Given the description of an element on the screen output the (x, y) to click on. 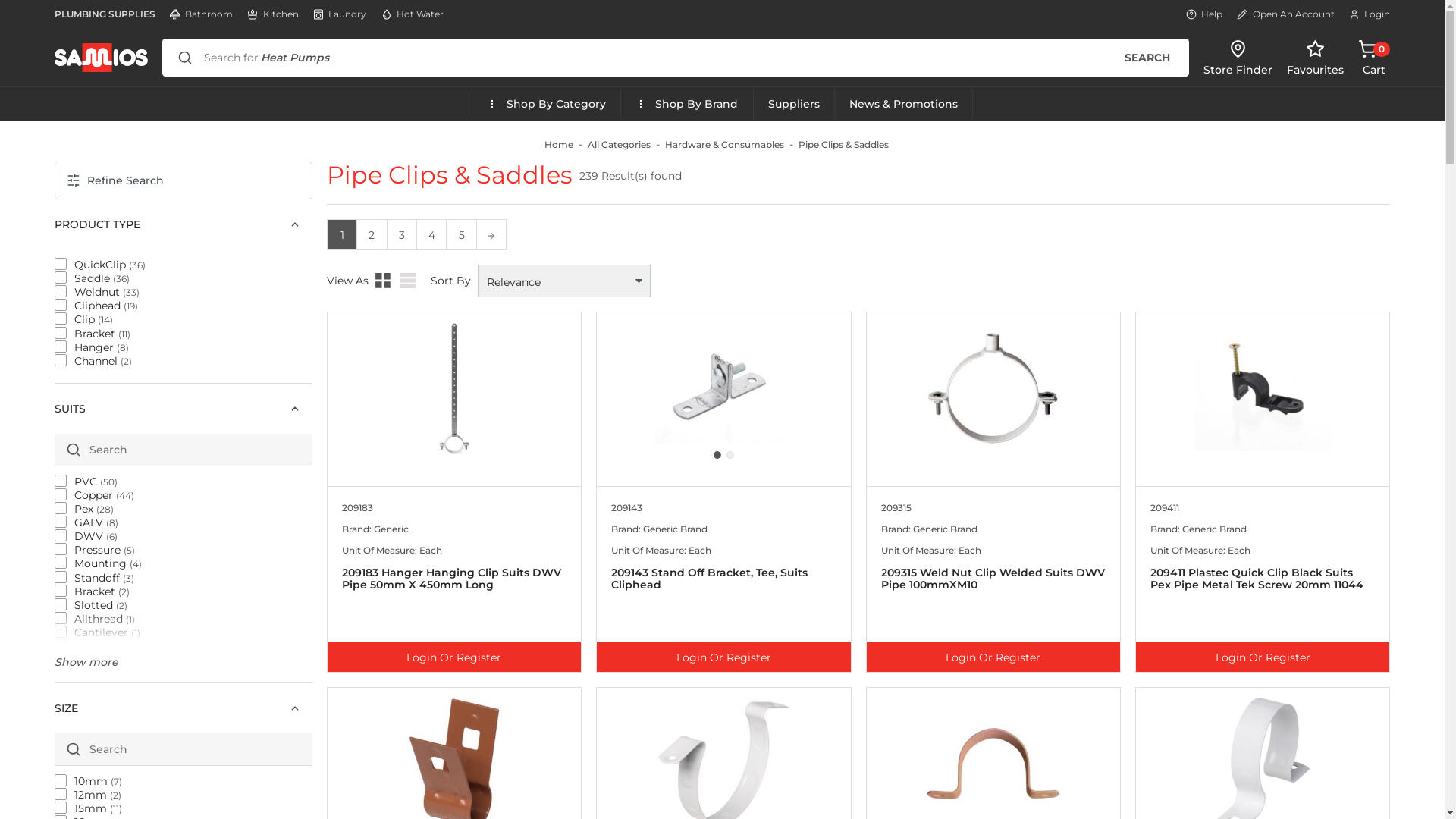
Kitchen Element type: text (272, 14)
Login Or Register Element type: text (723, 656)
Login Or Register Element type: text (1262, 656)
WELD NUT CLIP DWV 100MM X M10 Element type: hover (992, 388)
All Categories Element type: text (617, 144)
209315 Weld Nut Clip Welded Suits DWV Pipe 100mmXM10 Element type: text (993, 596)
Shop By Category Element type: text (546, 103)
209183 Element type: text (357, 507)
Login Element type: text (1369, 14)
List View Element type: hover (407, 280)
Laundry Element type: text (339, 14)
SEARCH Element type: text (1146, 57)
Help Element type: text (1204, 14)
Favourites Element type: text (1314, 57)
Bathroom Element type: text (200, 14)
News & Promotions Element type: text (903, 103)
5 Element type: text (460, 233)
HANGING CLIP DWV 50MM X 450MM Element type: hover (453, 388)
209411 Element type: text (1164, 507)
Shop By Brand Element type: text (687, 103)
Login Or Register Element type: text (993, 656)
Show more Element type: text (183, 668)
Login Or Register Element type: text (453, 656)
209315 Element type: text (896, 507)
Pipe Clips & Saddles Element type: text (842, 144)
Home Element type: hover (108, 57)
209183 Hanger Hanging Clip Suits DWV Pipe 50mm X 450mm Long Element type: text (454, 596)
4 Element type: text (431, 233)
Grid View Element type: hover (382, 280)
QUICK CLIP BLACK PEX M-TEK SCR 20MM Element type: hover (1262, 388)
209143 Stand Off Bracket, Tee, Suits Cliphead Element type: text (723, 596)
STAND OFF BRACKET Element type: hover (723, 388)
3 Element type: text (401, 233)
Suppliers Element type: text (793, 103)
Refine Search Element type: text (183, 180)
1 Element type: text (341, 233)
Home Element type: text (558, 144)
2 Element type: text (371, 233)
0
Cart Element type: text (1374, 57)
Pipe Clips & Saddles Element type: text (449, 174)
Open An Account Element type: text (1284, 14)
Store Finder Element type: text (1237, 57)
Hot Water Element type: text (412, 14)
Hardware & Consumables Element type: text (723, 144)
209143 Element type: text (626, 507)
